Given the description of an element on the screen output the (x, y) to click on. 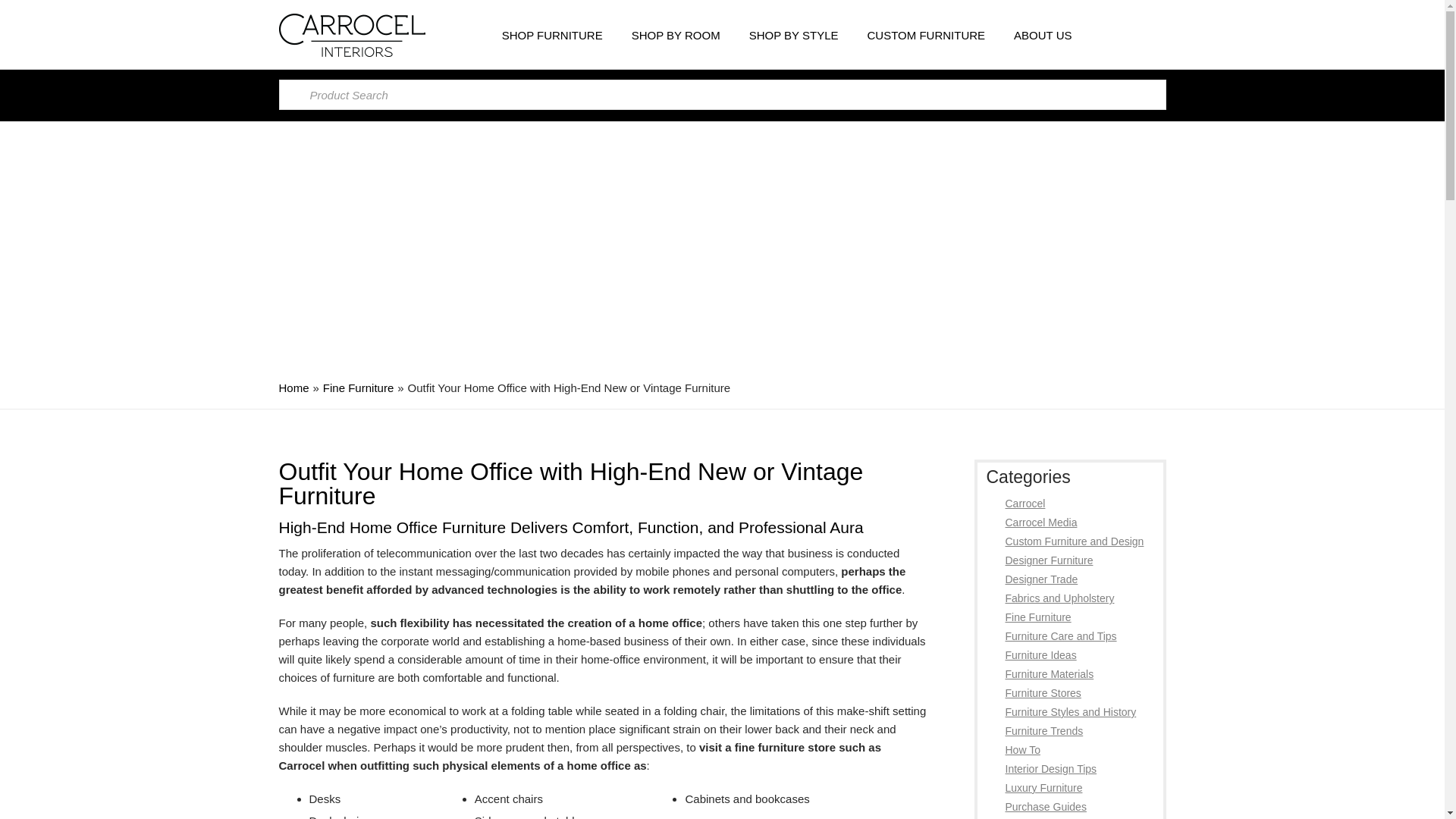
SHOP FURNITURE (555, 35)
SHOP BY STYLE (796, 35)
SHOP BY ROOM (679, 35)
